Given the description of an element on the screen output the (x, y) to click on. 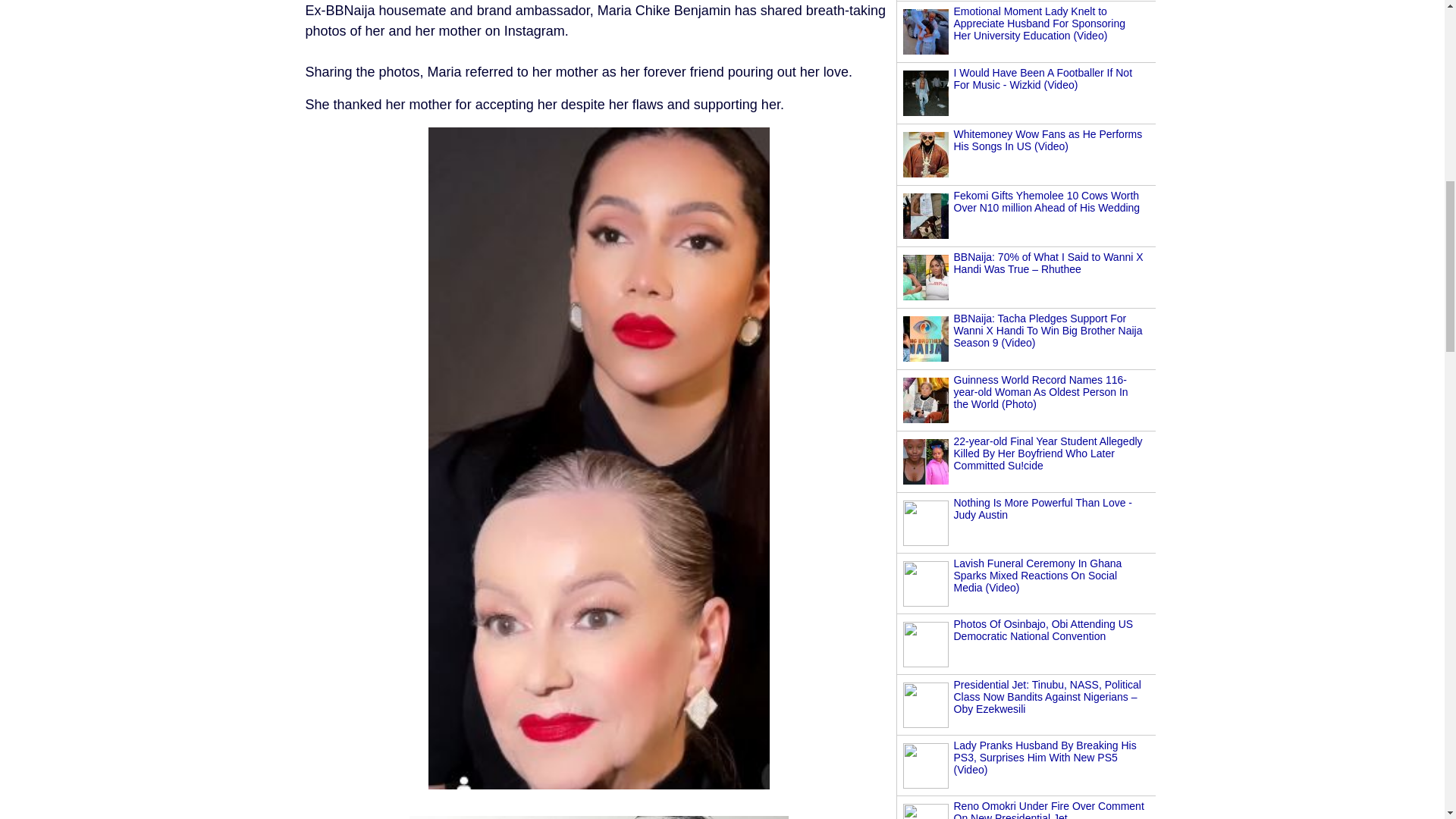
Nothing Is More Powerful Than Love - Judy Austin (1042, 508)
